Given the description of an element on the screen output the (x, y) to click on. 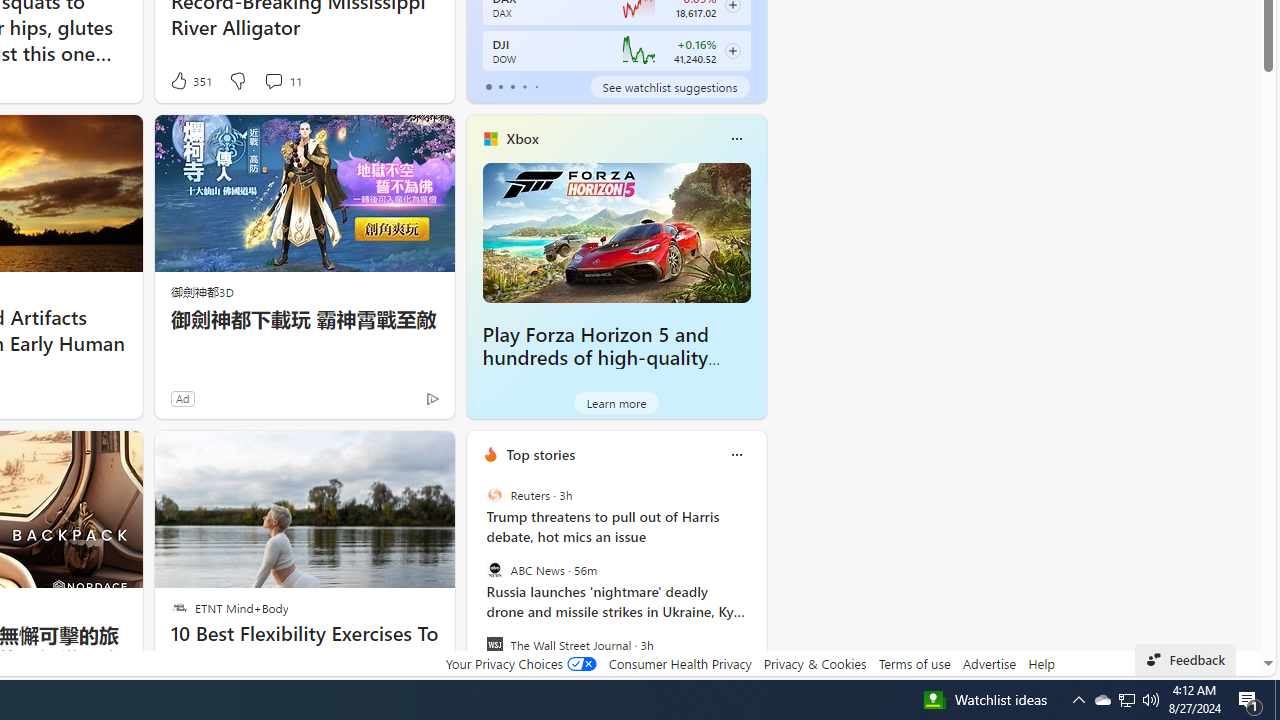
tab-4 (535, 86)
View comments 11 Comment (273, 80)
next (756, 583)
Xbox (521, 139)
ABC News (494, 570)
previous (476, 583)
